Given the description of an element on the screen output the (x, y) to click on. 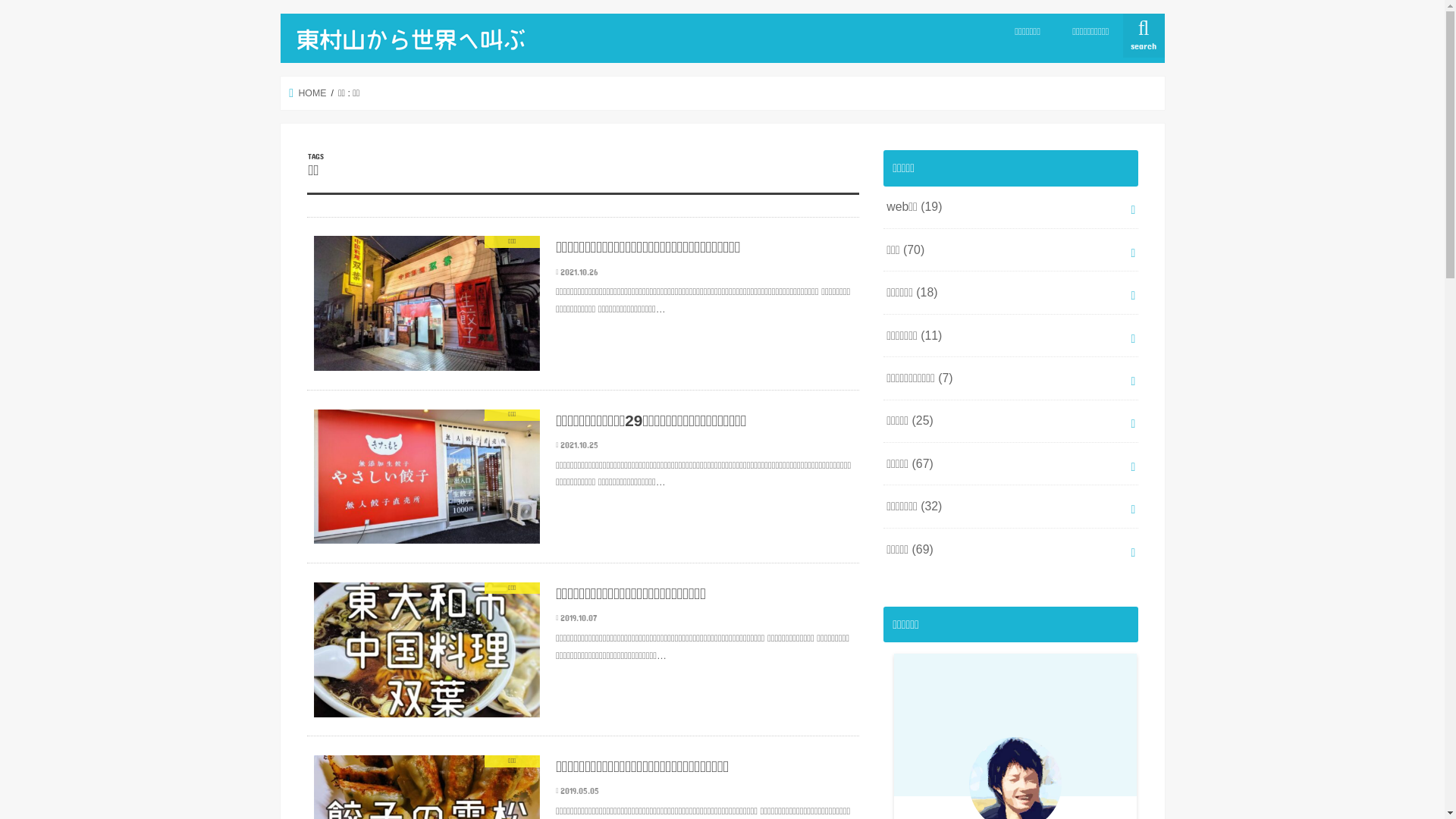
search Element type: text (1143, 35)
HOME Element type: text (307, 92)
